Given the description of an element on the screen output the (x, y) to click on. 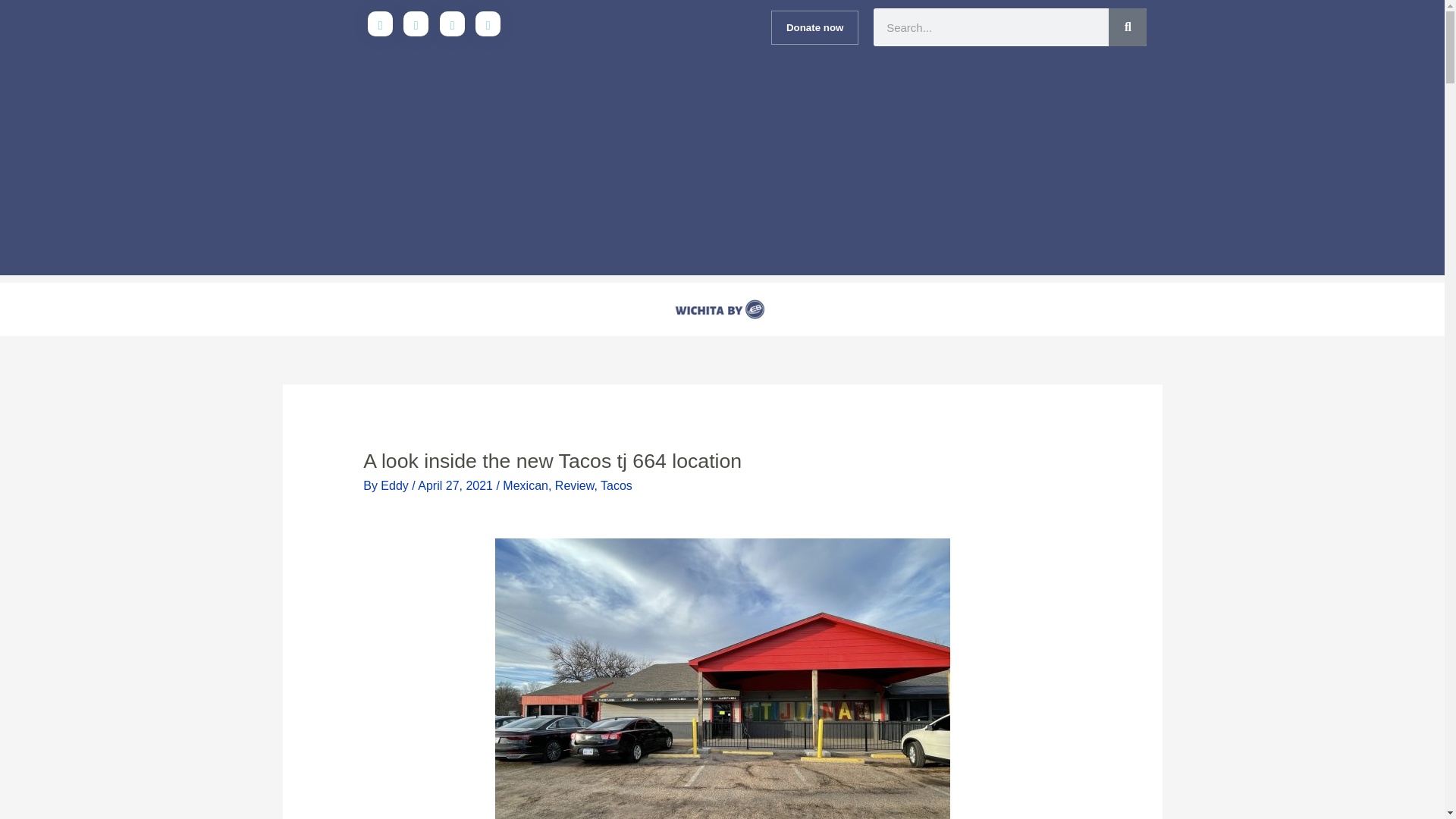
Donate now (815, 27)
View all posts by Eddy (396, 485)
